Given the description of an element on the screen output the (x, y) to click on. 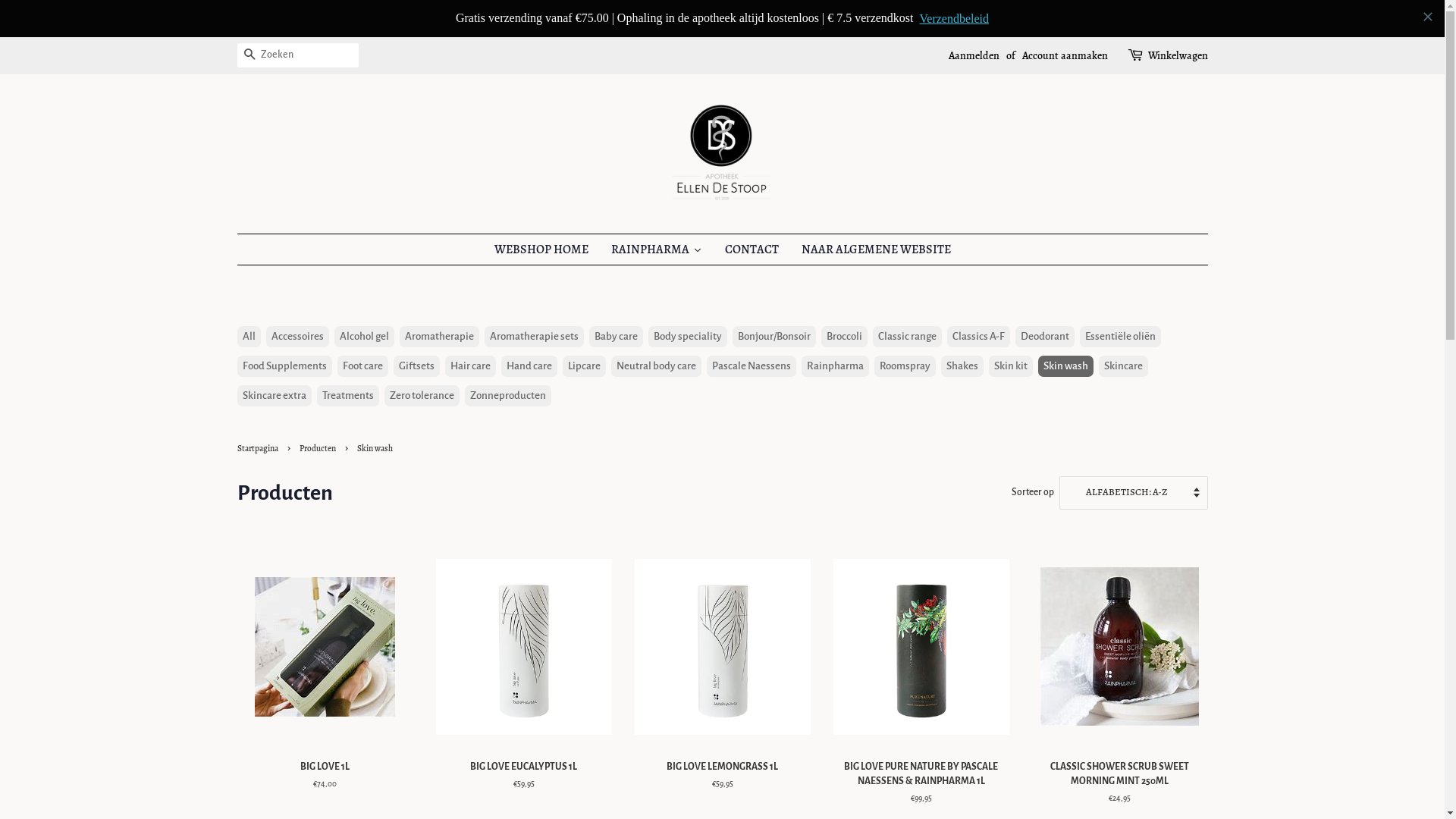
Shakes Element type: text (961, 328)
Body speciality Element type: text (686, 299)
Automizely Marketing popup bars Element type: hover (722, 18)
Skin kit Element type: text (1010, 328)
Aromatherapie Element type: text (438, 299)
Zonneproducten Element type: text (507, 358)
WEBSHOP HOME Element type: text (540, 212)
Roomspray Element type: text (904, 328)
NAAR ALGEMENE WEBSITE Element type: text (876, 212)
Giftsets Element type: text (415, 328)
Classics A-F Element type: text (977, 299)
ZOEKEN Element type: text (248, 18)
All Element type: text (248, 299)
Foot care Element type: text (361, 328)
Producten Element type: text (318, 411)
Hand care Element type: text (528, 328)
Skincare extra Element type: text (273, 358)
Rainpharma Element type: text (834, 328)
Deodorant Element type: text (1043, 299)
Startpagina Element type: text (258, 411)
Skincare Element type: text (1122, 328)
Lipcare Element type: text (583, 328)
Zero tolerance Element type: text (420, 358)
Alcohol gel Element type: text (363, 299)
Broccoli Element type: text (843, 299)
RAINPHARMA Element type: text (655, 212)
Classic range Element type: text (906, 299)
CONTACT Element type: text (750, 212)
Skin wash Element type: text (1064, 328)
Treatments Element type: text (347, 358)
Baby care Element type: text (615, 299)
Neutral body care Element type: text (656, 328)
Winkelwagen Element type: text (1178, 18)
Hair care Element type: text (469, 328)
Account aanmaken Element type: text (1064, 18)
Pascale Naessens Element type: text (751, 328)
Bonjour/Bonsoir Element type: text (773, 299)
Accessoires Element type: text (296, 299)
Aanmelden Element type: text (972, 18)
Aromatherapie sets Element type: text (533, 299)
Food Supplements Element type: text (283, 328)
